Given the description of an element on the screen output the (x, y) to click on. 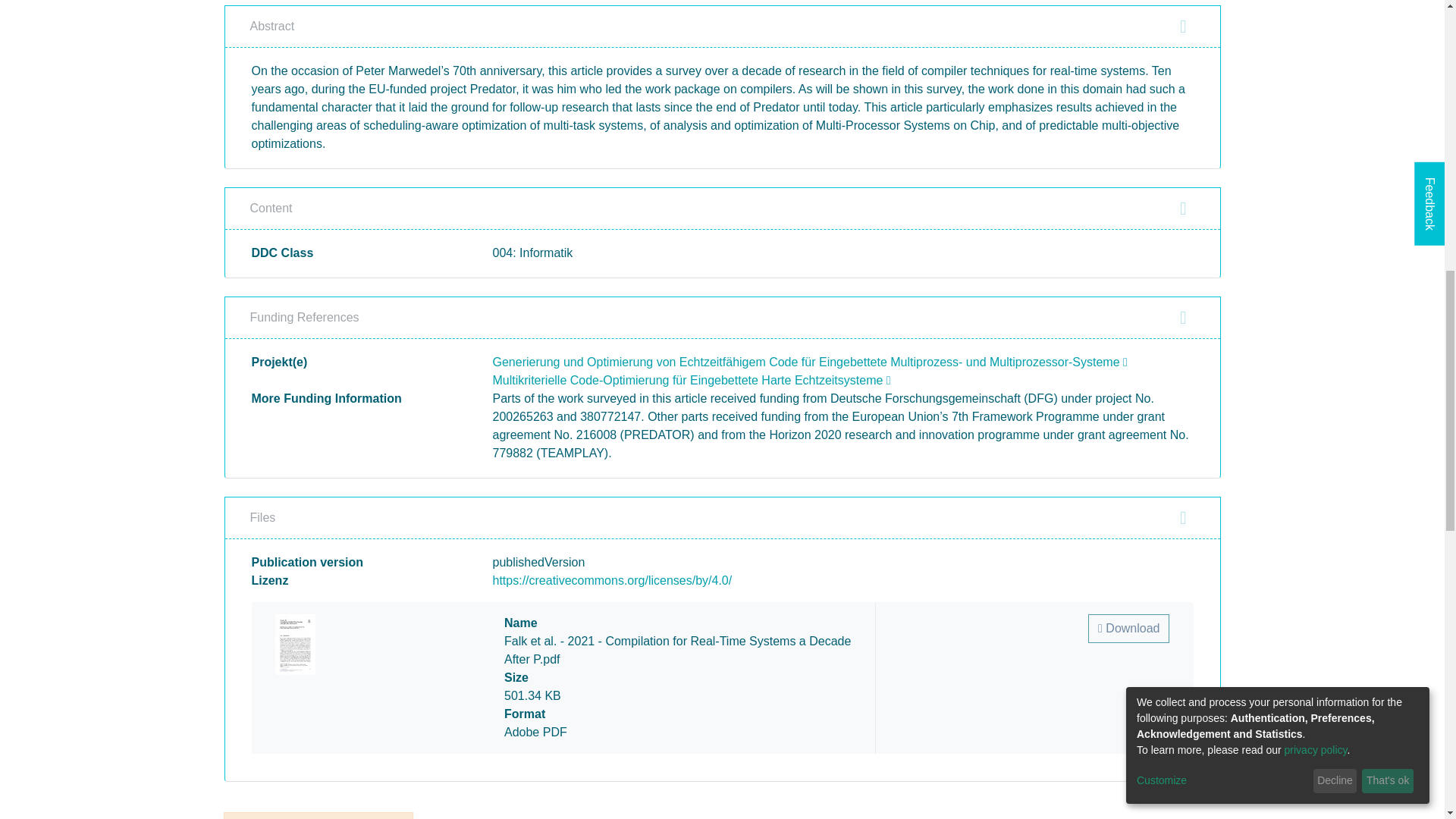
Close section (1183, 208)
Close section (1183, 26)
Close section (1183, 317)
Close section (1183, 517)
